Given the description of an element on the screen output the (x, y) to click on. 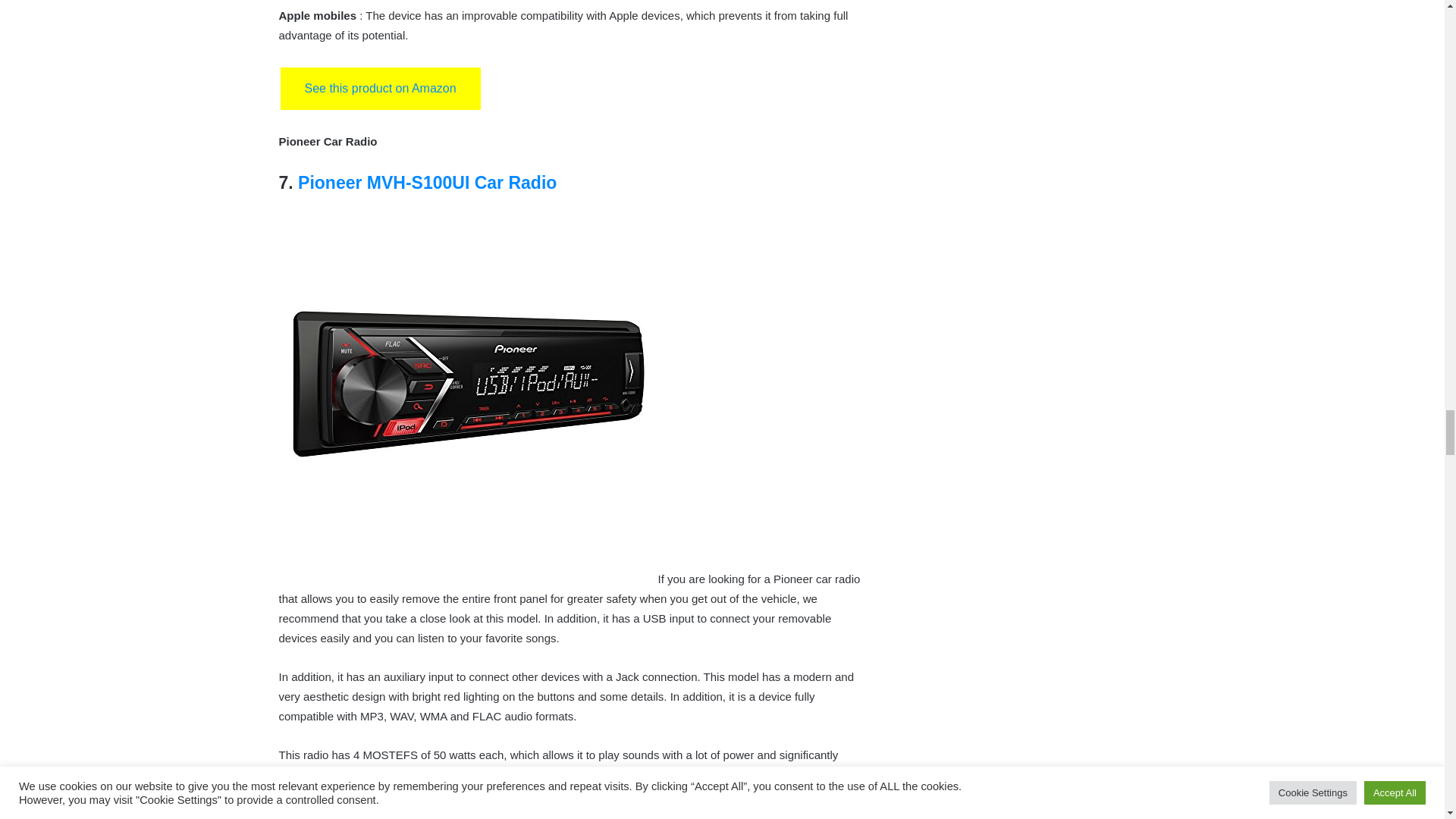
Pioneer MVH-S100UI Car Radio (427, 182)
See this product on Amazon (380, 88)
